Given the description of an element on the screen output the (x, y) to click on. 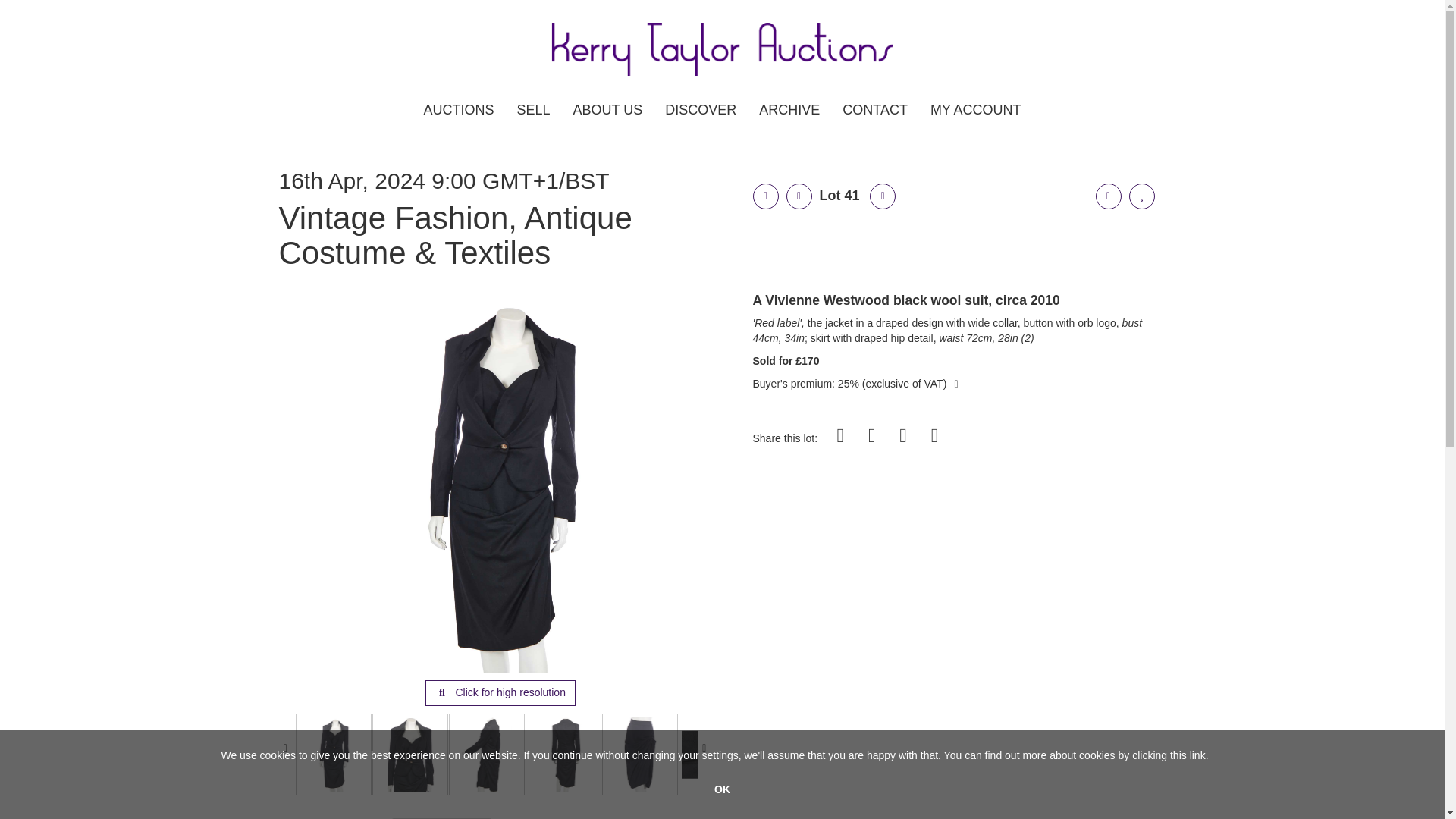
AUCTIONS (458, 115)
Click for high resolution (500, 692)
SELL (532, 115)
ARCHIVE (789, 115)
CONTACT (874, 115)
DISCOVER (700, 115)
ABOUT US (606, 115)
MY ACCOUNT (975, 115)
